Given the description of an element on the screen output the (x, y) to click on. 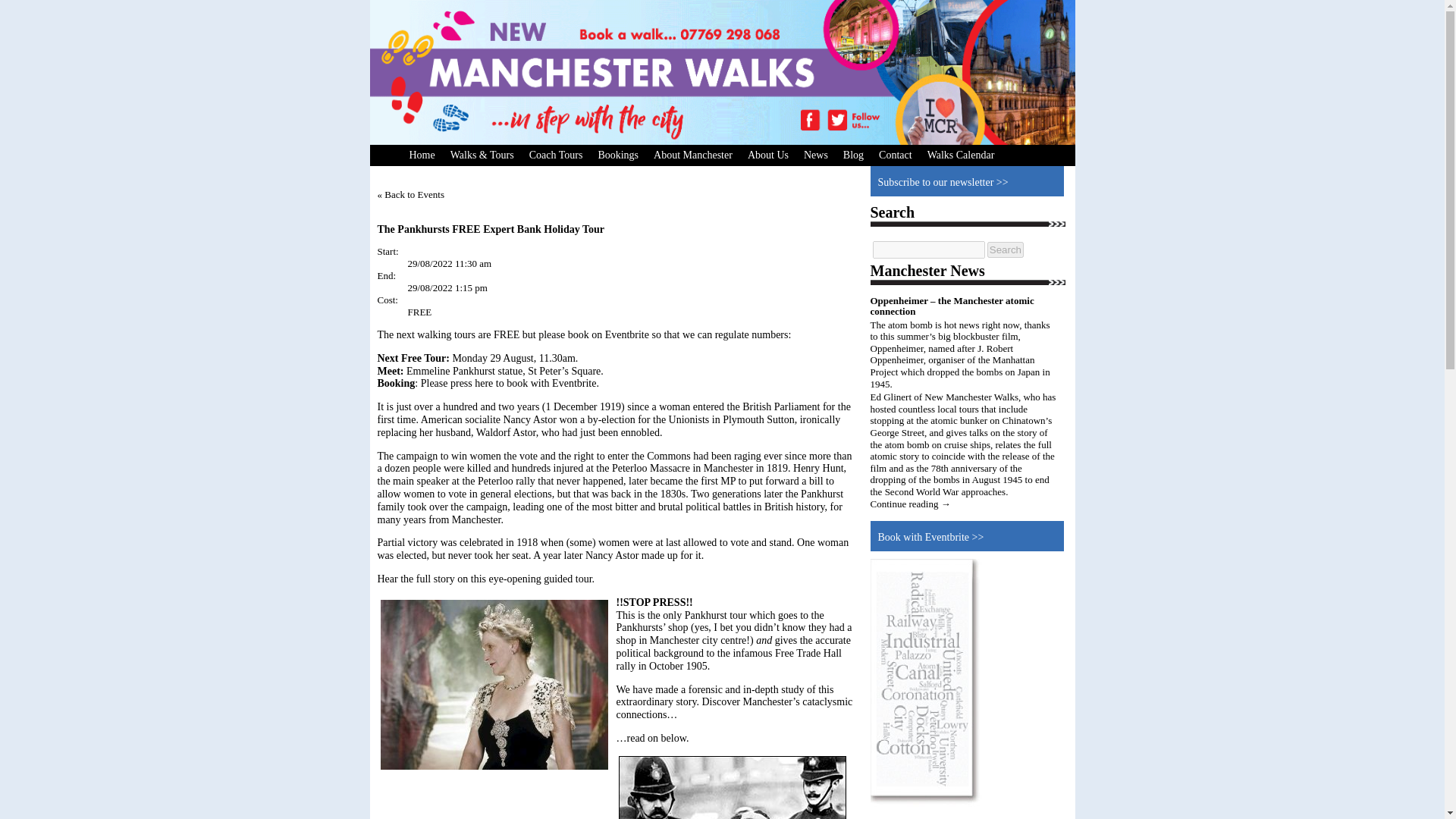
Bookings (617, 155)
News (815, 155)
About Manchester (692, 155)
Please press here to book with Eventbrite (508, 383)
About Us (767, 155)
Search (1005, 249)
Search (1005, 249)
Blog (852, 155)
Suffragettes 1 (731, 787)
Walks Calendar (961, 155)
Home (421, 155)
Coach Tours (556, 155)
Contact (895, 155)
